Given the description of an element on the screen output the (x, y) to click on. 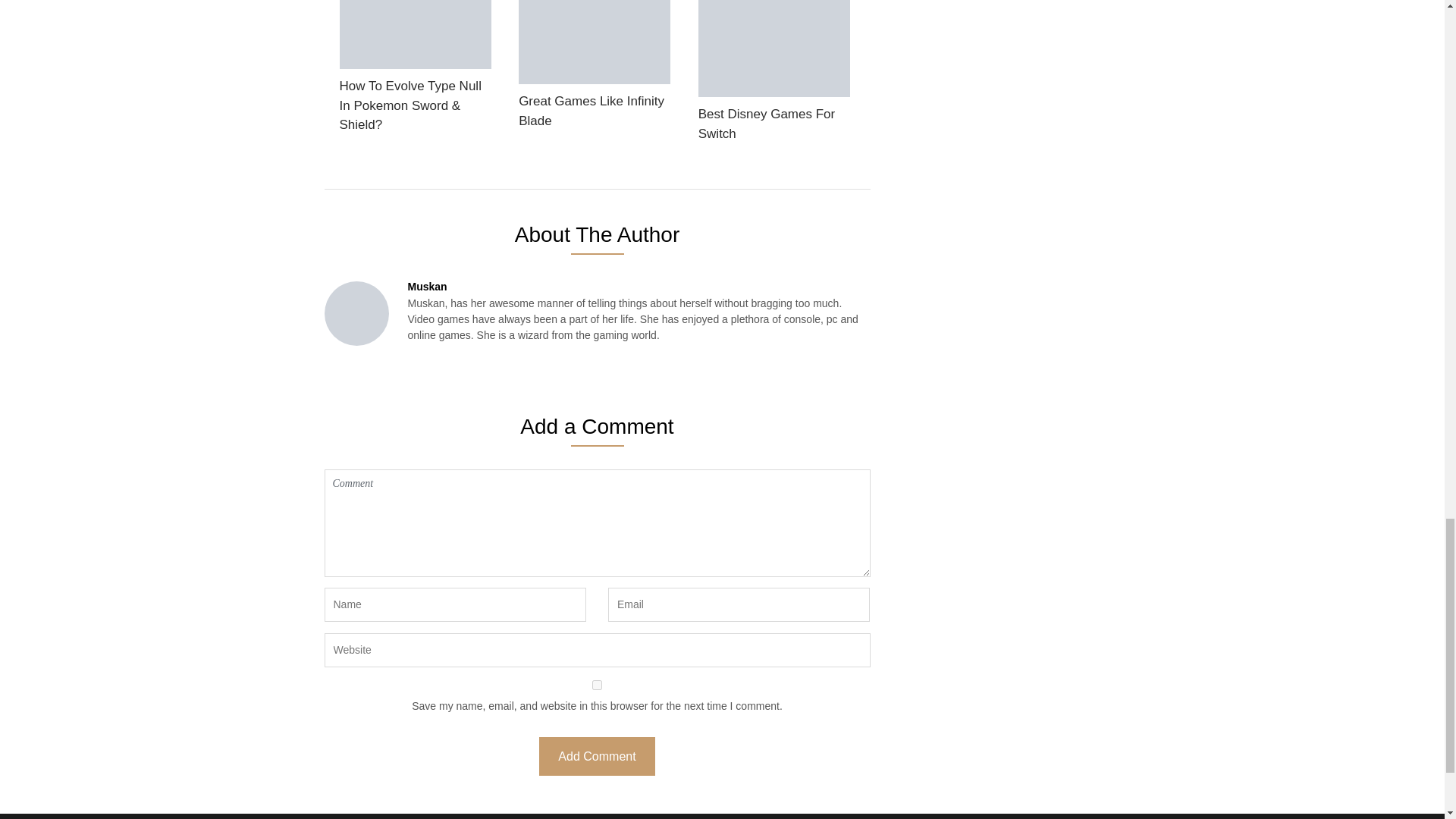
Best Disney Games For Switch (774, 75)
Best Disney Games For Switch 5 (774, 48)
Great Games Like Infinity Blade 4 (593, 42)
Add Comment (595, 756)
Great Games Like Infinity Blade (593, 69)
Great Games Like Infinity Blade (593, 69)
Best Disney Games For Switch (774, 75)
Add Comment (595, 756)
yes (597, 685)
